Given the description of an element on the screen output the (x, y) to click on. 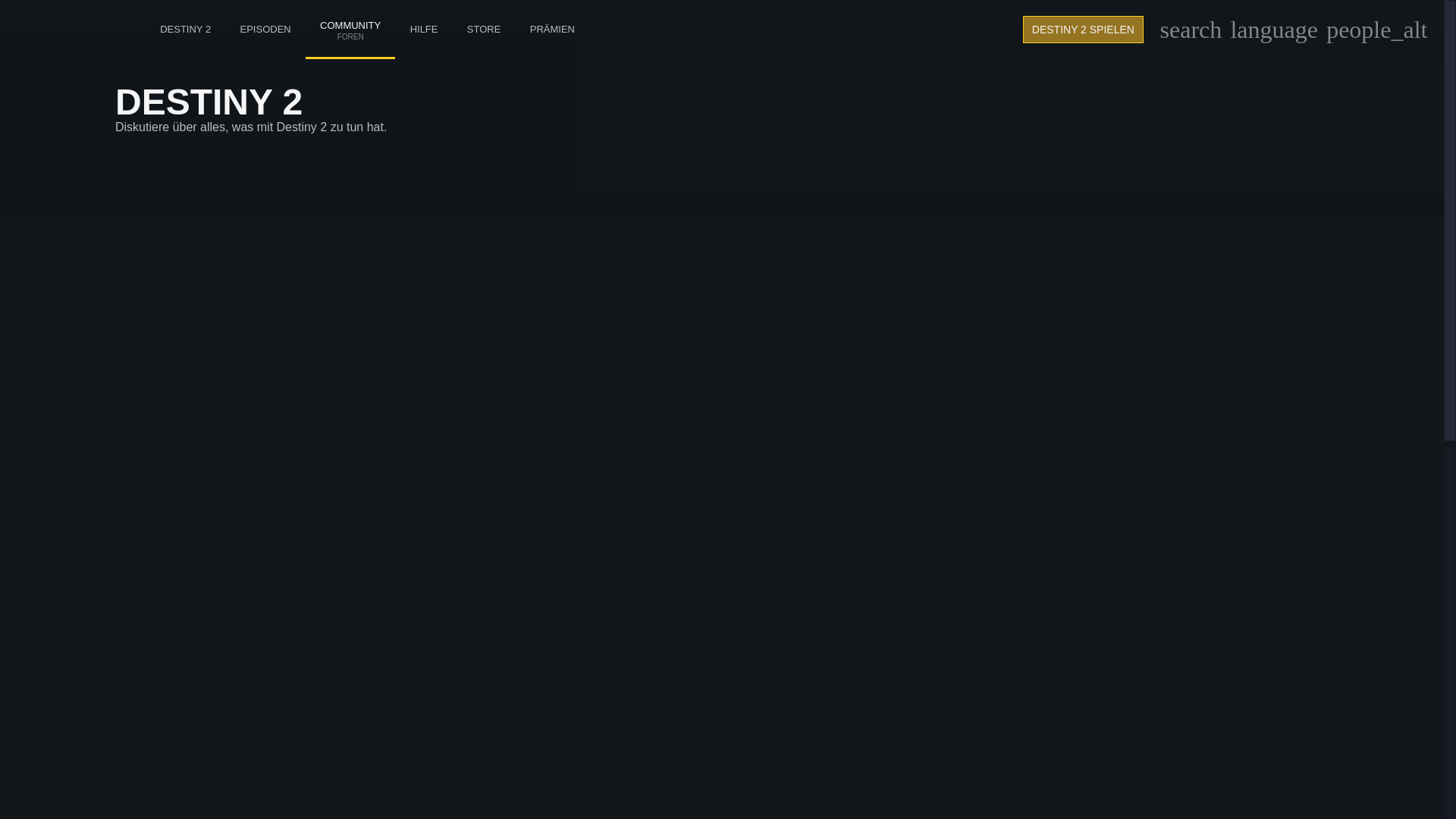
DESTINY 2 (185, 29)
EPISODEN (265, 29)
STORE (483, 29)
DESTINY 2 SPIELEN (1082, 29)
HILFE (422, 29)
Destiny (350, 13)
